Given the description of an element on the screen output the (x, y) to click on. 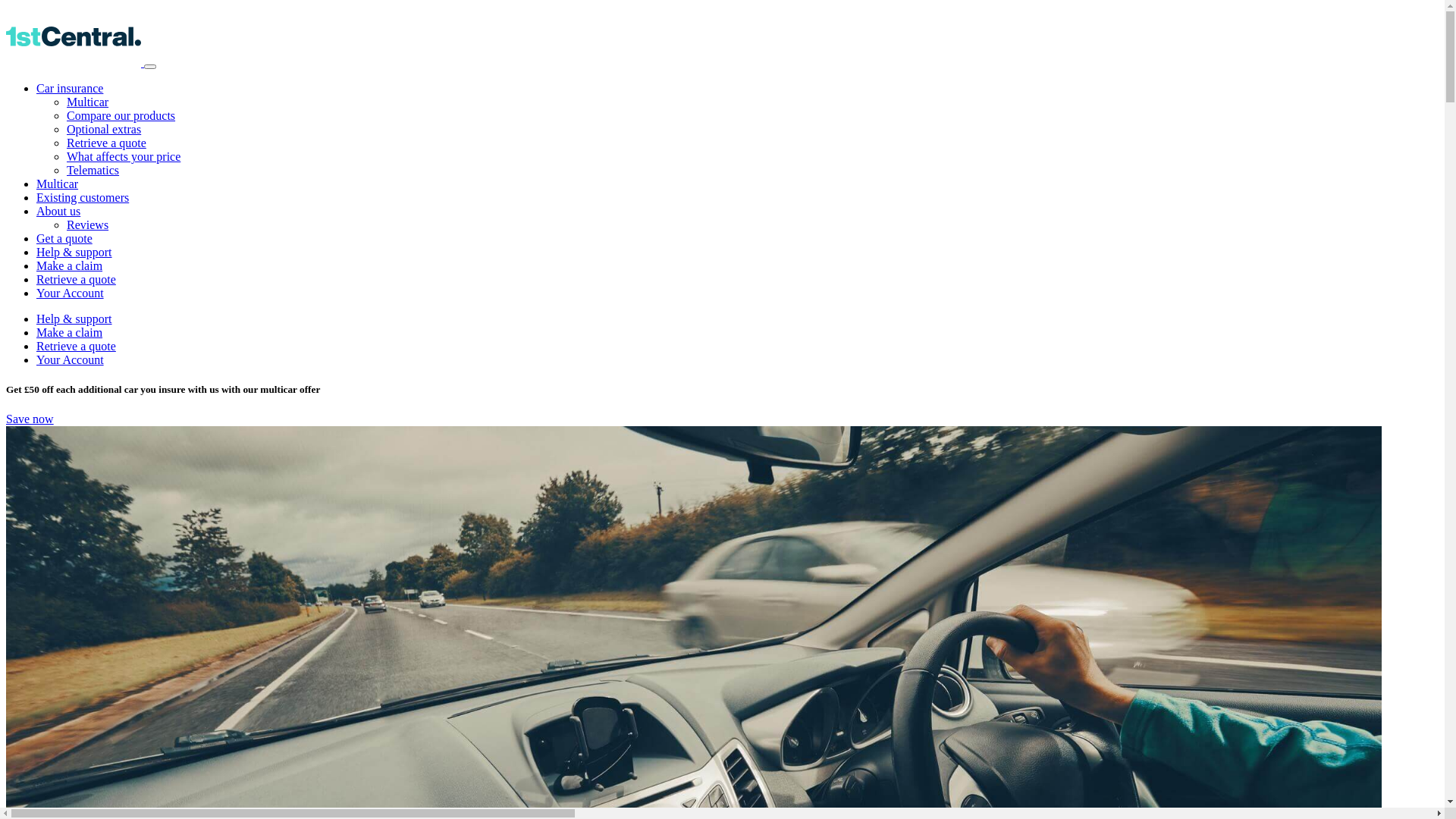
Compare our products Element type: text (120, 115)
Retrieve a quote Element type: text (76, 279)
Help & support Element type: text (74, 251)
Existing customers Element type: text (82, 197)
What affects your price Element type: text (123, 156)
Retrieve a quote Element type: text (106, 142)
Multicar Element type: text (87, 101)
About us Element type: text (58, 210)
Car insurance Element type: text (69, 87)
Your Account Element type: text (69, 292)
Make a claim Element type: text (69, 332)
Telematics Element type: text (92, 169)
Get a quote Element type: text (64, 238)
Optional extras Element type: text (103, 128)
Help & support Element type: text (74, 318)
Retrieve a quote Element type: text (76, 345)
Multicar Element type: text (57, 183)
Save now Element type: text (29, 418)
Make a claim Element type: text (69, 265)
Your Account Element type: text (69, 359)
Reviews Element type: text (87, 224)
